Given the description of an element on the screen output the (x, y) to click on. 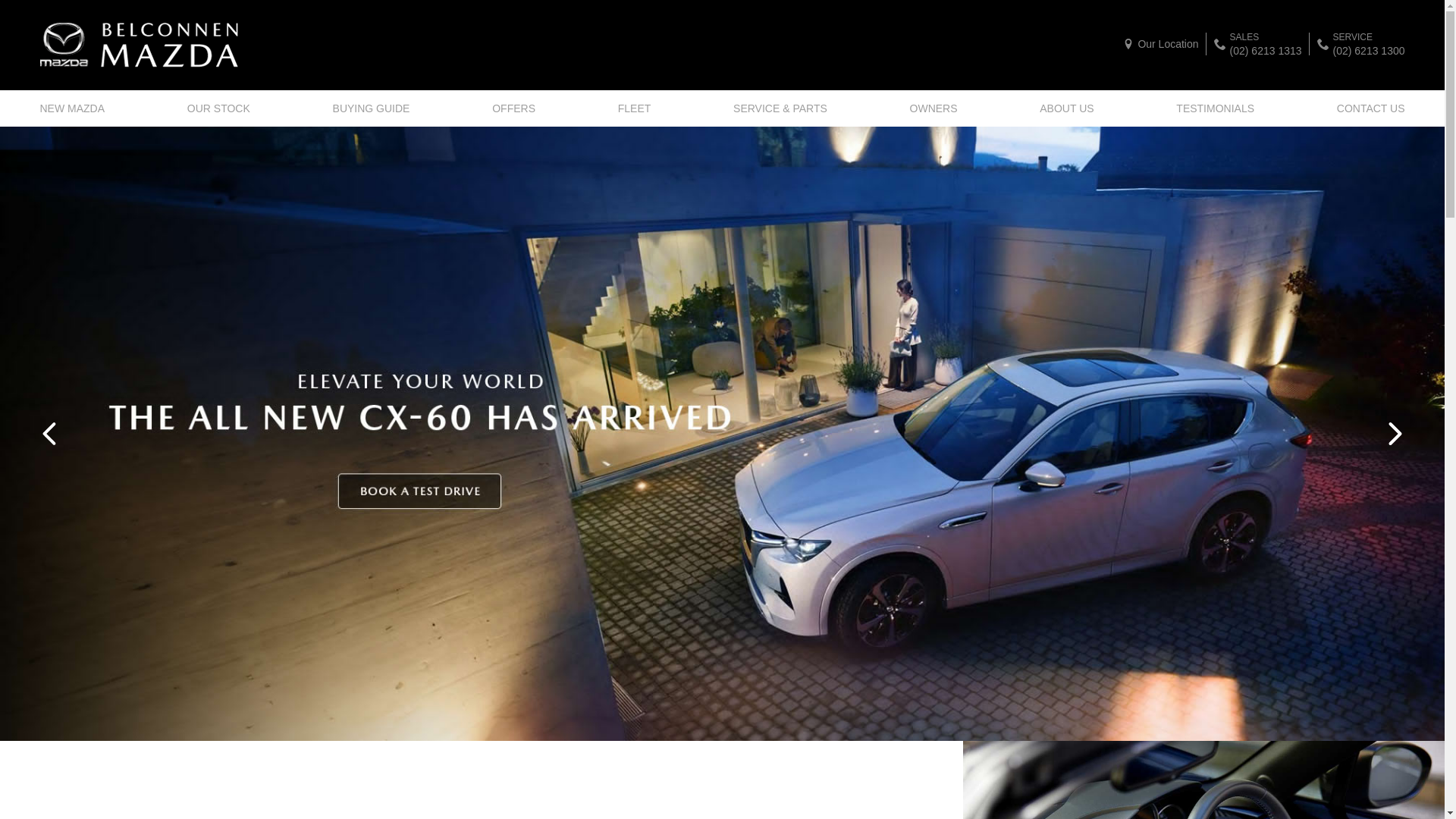
FLEET Element type: text (634, 108)
ABOUT US Element type: text (1066, 108)
NEW MAZDA Element type: text (75, 108)
TESTIMONIALS Element type: text (1214, 108)
OWNERS Element type: text (933, 108)
OFFERS Element type: text (513, 108)
BUYING GUIDE Element type: text (371, 108)
(02) 6213 1313 Element type: text (1266, 49)
CONTACT US Element type: text (1367, 108)
OUR STOCK Element type: text (218, 108)
Our Location Element type: text (1160, 43)
SERVICE & PARTS Element type: text (779, 108)
(02) 6213 1300 Element type: text (1369, 49)
